Given the description of an element on the screen output the (x, y) to click on. 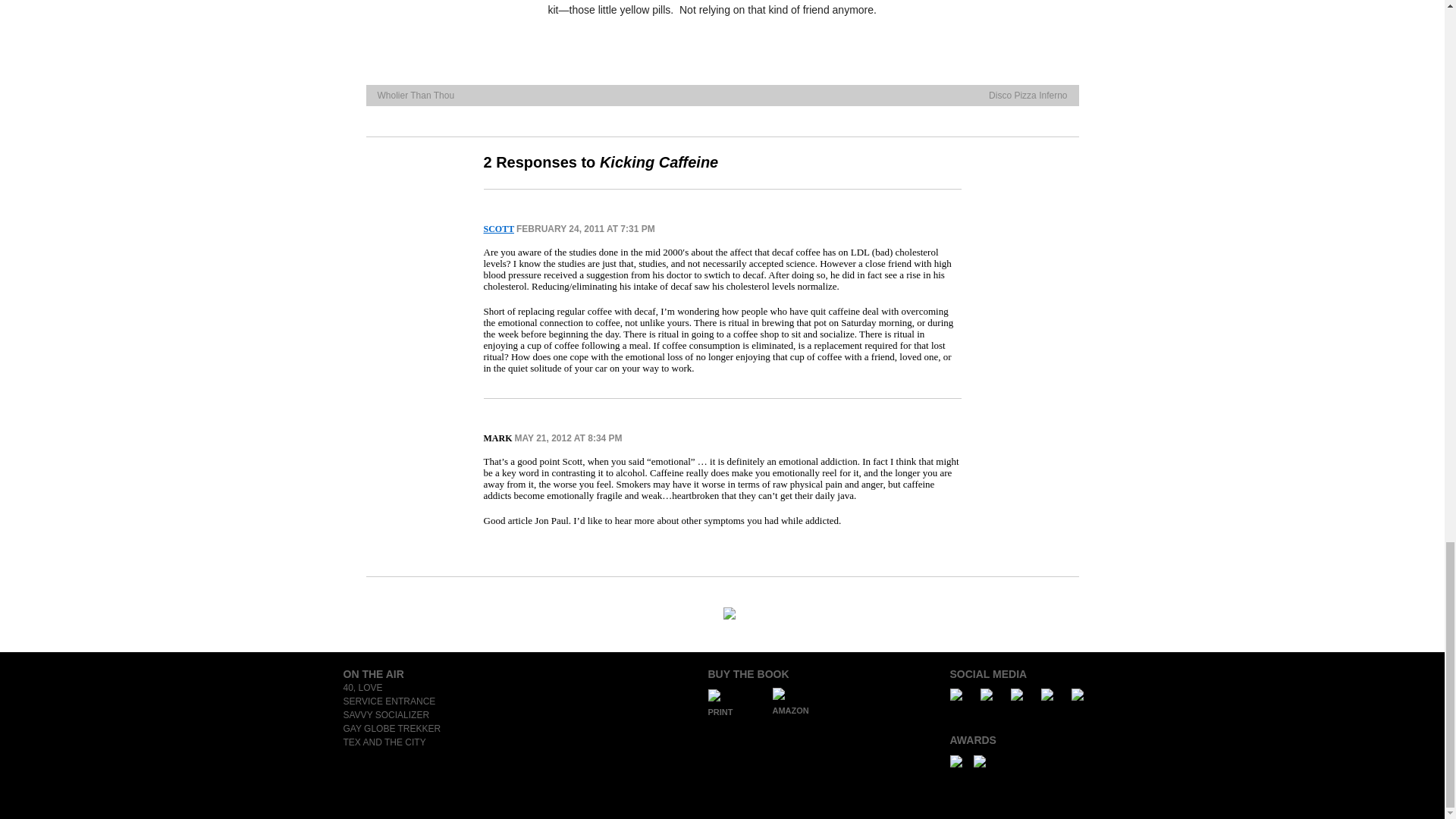
MAY 21, 2012 AT 8:34 PM (567, 438)
GAY GLOBE TREKKER (391, 728)
Wholier Than Thou (415, 95)
40, LOVE (361, 687)
SCOTT (498, 228)
the book that launched a blog (388, 701)
Disco Pizza Inferno (1027, 95)
FEBRUARY 24, 2011 AT 7:31 PM (585, 228)
life with gay Mary Tyler Moore (361, 687)
TEX AND THE CITY (383, 742)
SAVVY SOCIALIZER (385, 715)
SERVICE ENTRANCE (388, 701)
